Given the description of an element on the screen output the (x, y) to click on. 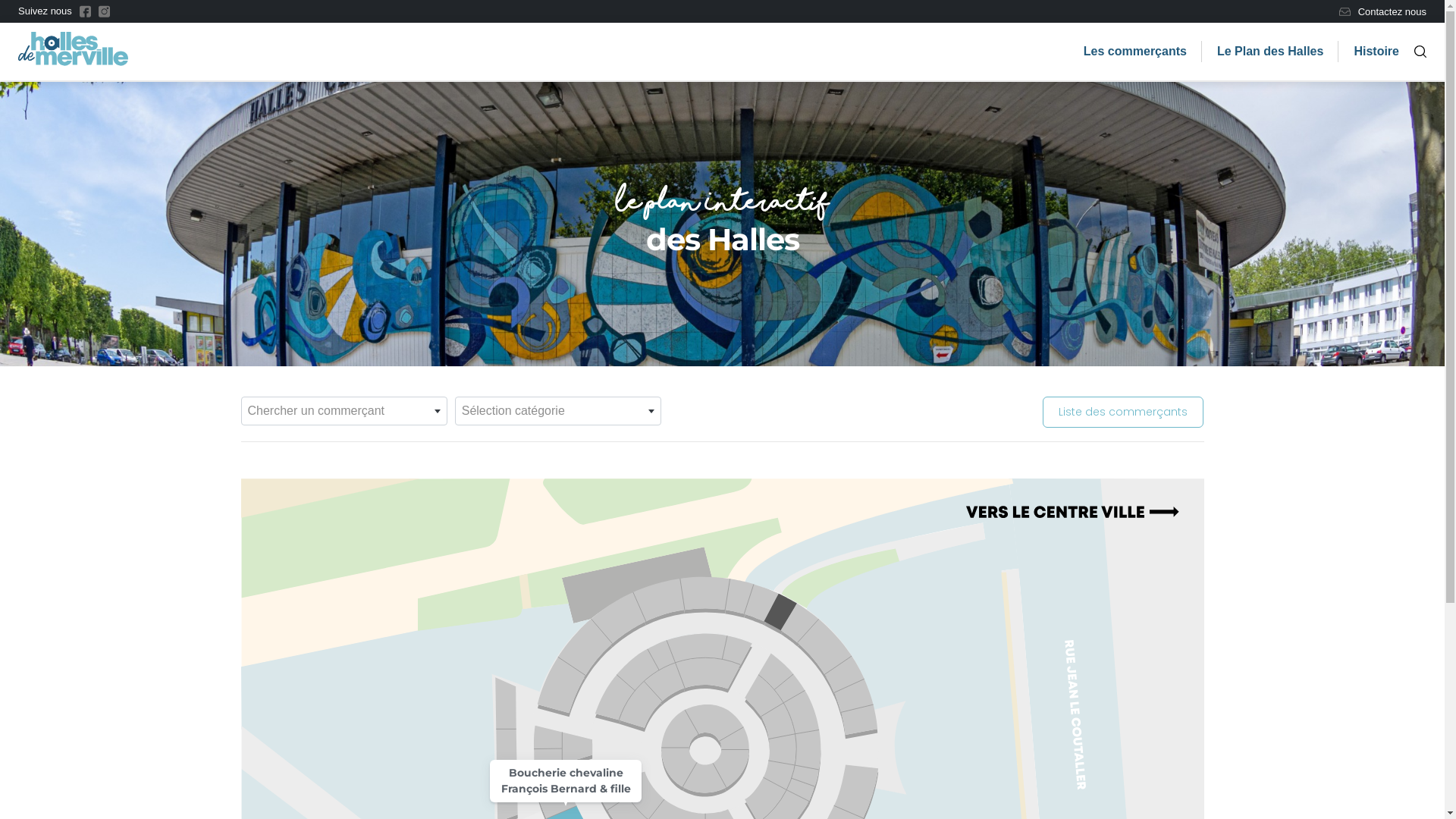
Histoire Element type: text (1376, 51)
Contactez nous Element type: text (1382, 11)
Le Plan des Halles Element type: text (1270, 51)
